Given the description of an element on the screen output the (x, y) to click on. 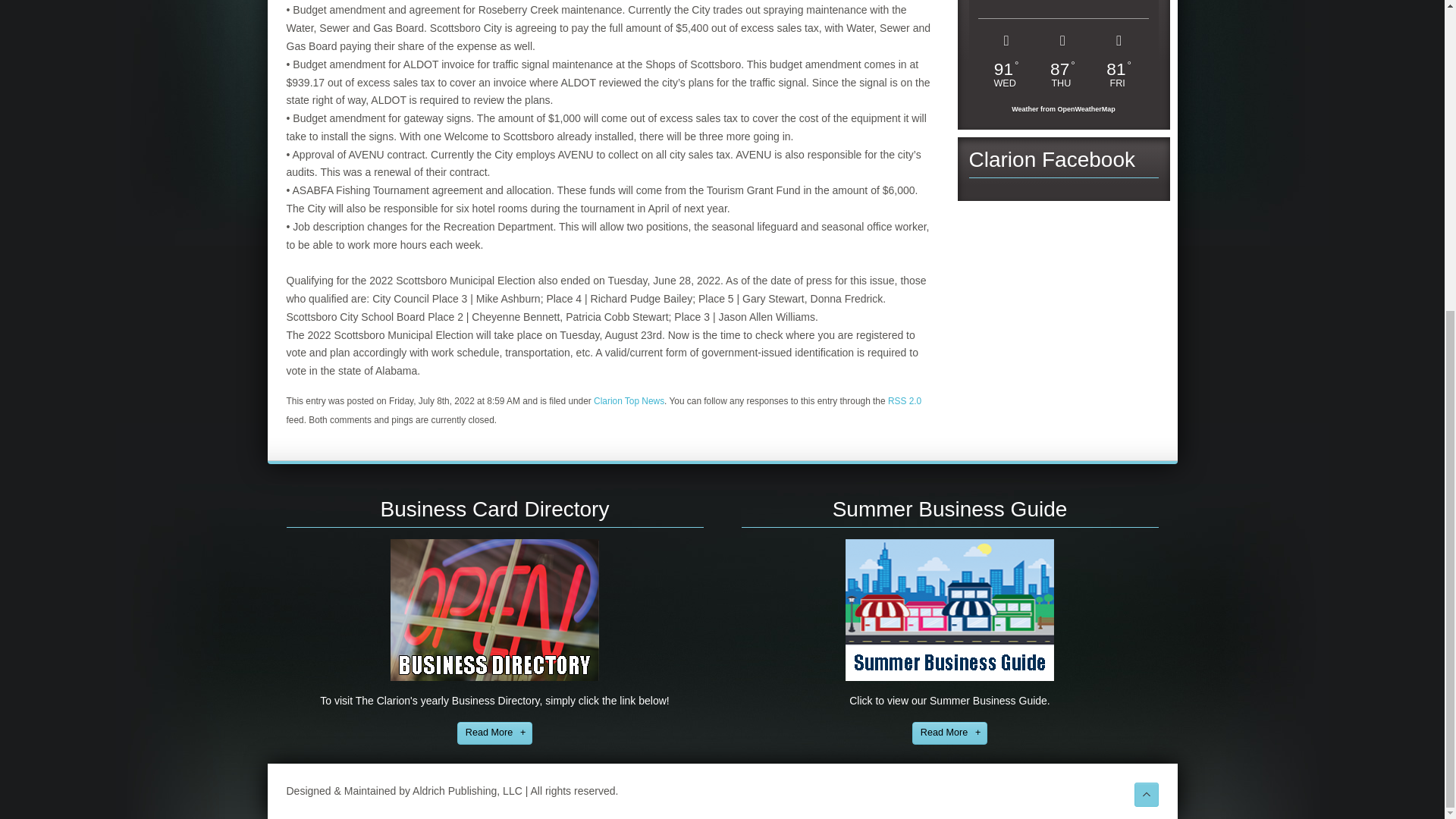
Read More (494, 732)
Clarion Top News (628, 400)
RSS 2.0 (904, 400)
Read More (949, 732)
